Given the description of an element on the screen output the (x, y) to click on. 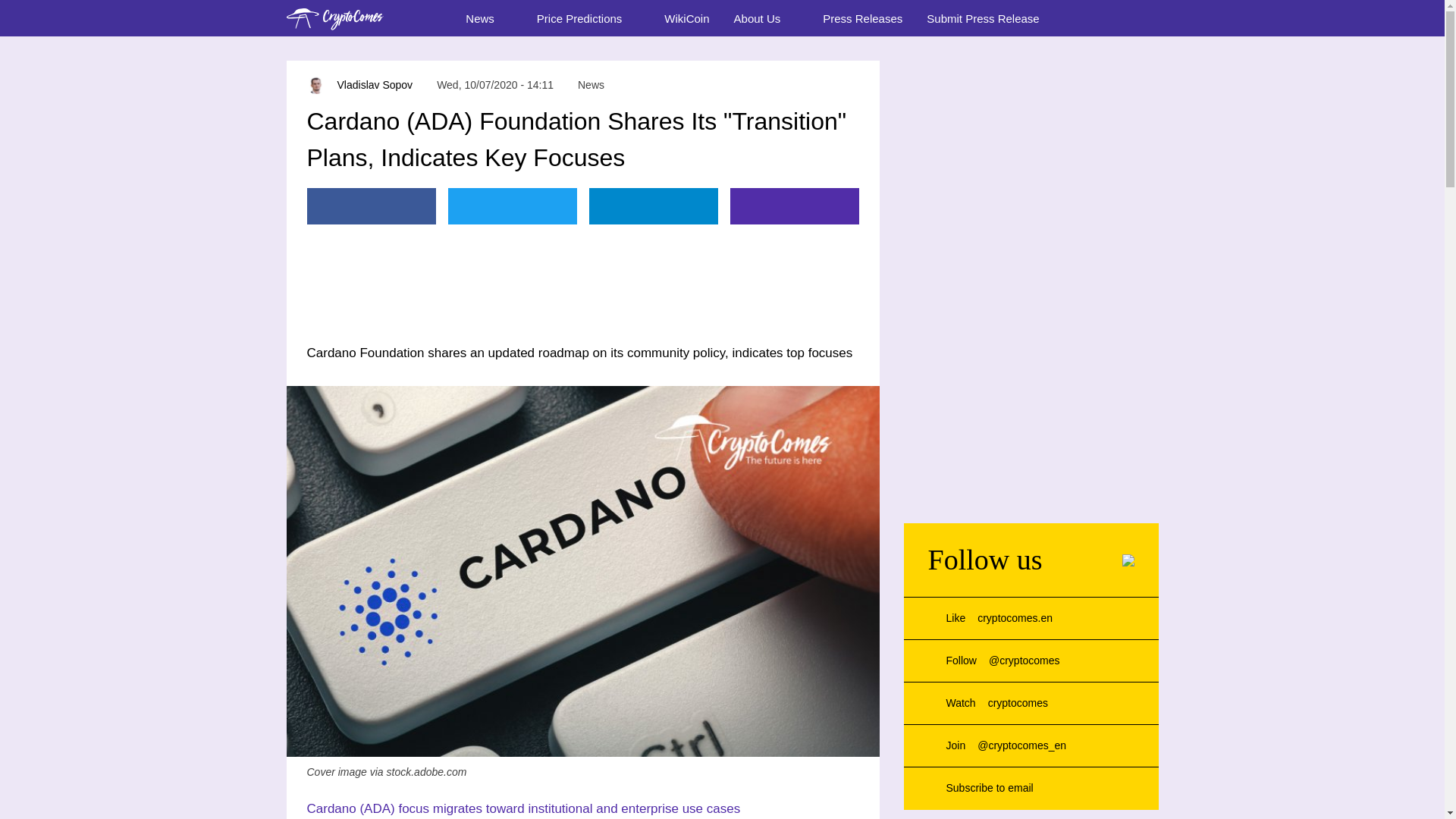
Twitter (511, 206)
WikiCoin (686, 18)
News (488, 18)
logo (335, 18)
Press Releases (862, 18)
Price Predictions (588, 18)
Submit Press Release (982, 18)
Facebook (370, 206)
About Us (766, 18)
Copy URL (794, 206)
Telegram (652, 206)
News (591, 84)
